Given the description of an element on the screen output the (x, y) to click on. 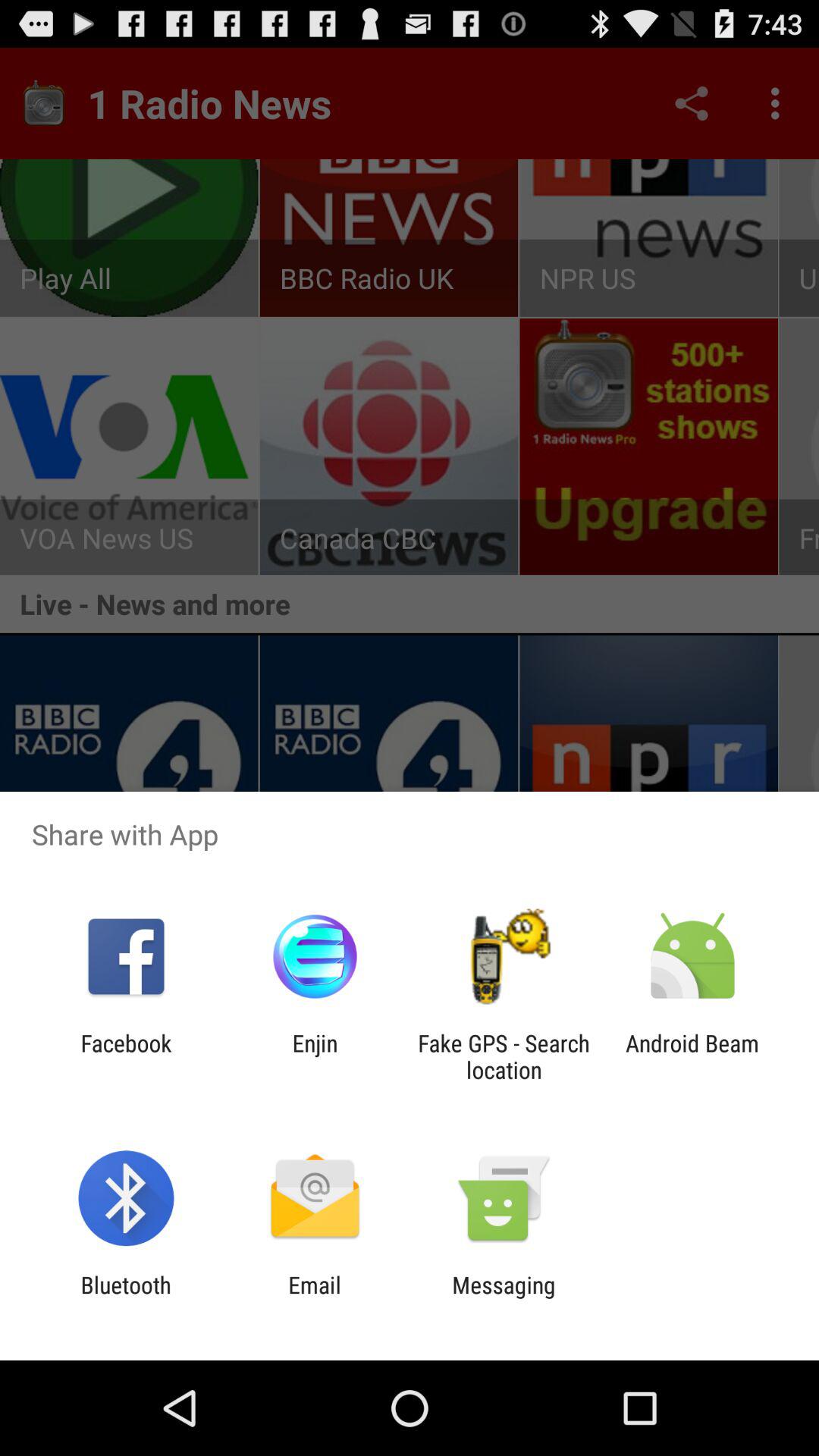
click the android beam icon (692, 1056)
